Given the description of an element on the screen output the (x, y) to click on. 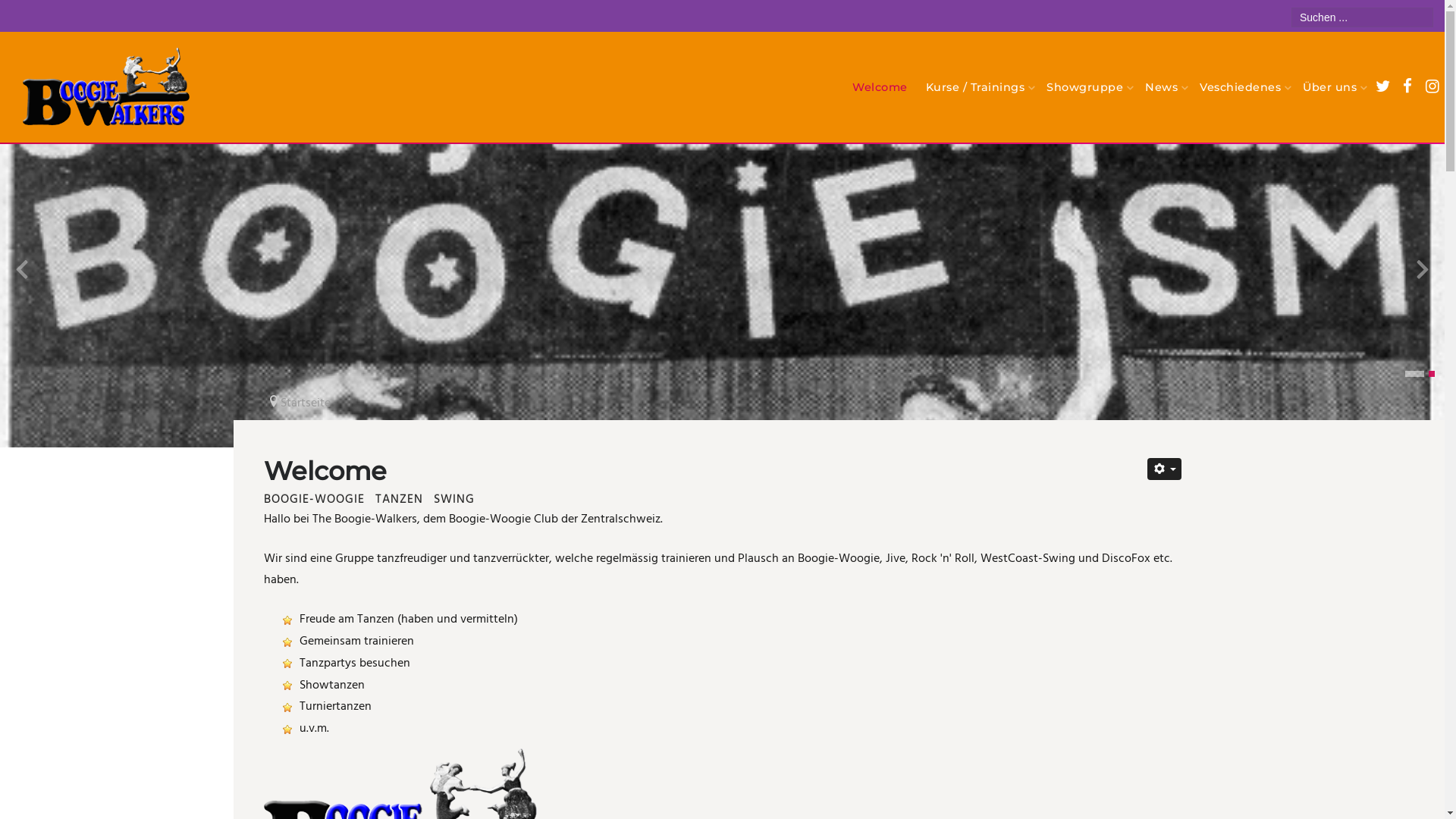
SWING Element type: text (453, 499)
Showgruppe Element type: text (1086, 86)
Instagram Element type: text (1432, 87)
TANZEN Element type: text (398, 499)
News Element type: text (1163, 86)
BOOGIE-WOOGIE Element type: text (313, 499)
Kurse / Trainings Element type: text (976, 86)
The Boogie-Walkers Element type: hover (105, 87)
Welcome Element type: text (879, 86)
Facebook Element type: text (1407, 87)
Veschiedenes Element type: text (1241, 86)
Twitter Element type: text (1382, 87)
